Given the description of an element on the screen output the (x, y) to click on. 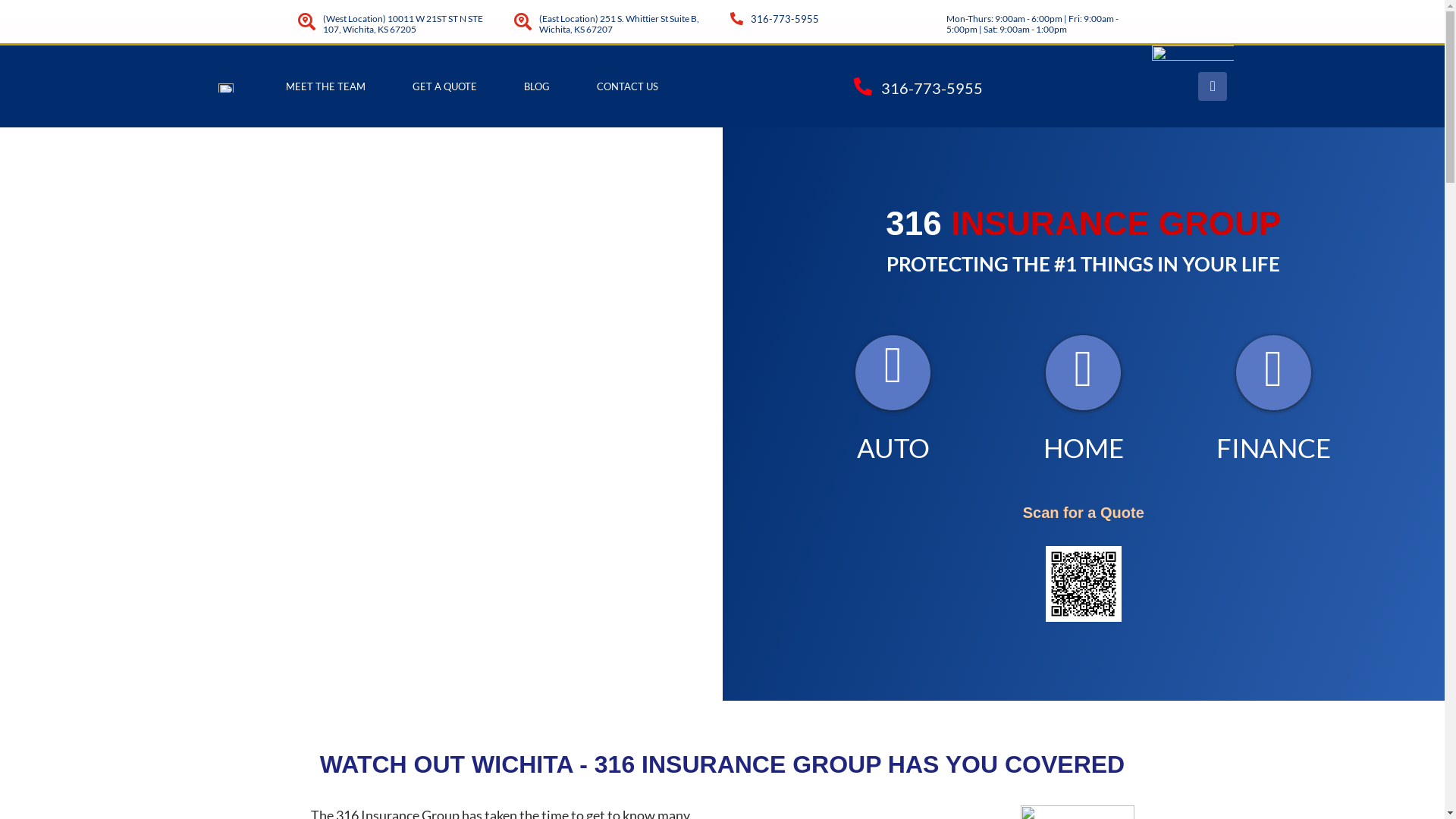
GET A QUOTE Element type: text (444, 86)
FINANCE Element type: text (1273, 447)
316-773-5955 Element type: text (931, 87)
CONTACT US Element type: text (627, 86)
BLOG Element type: text (536, 86)
316-773-5955 Element type: text (784, 18)
HOME Element type: text (1083, 447)
AUTO Element type: text (892, 447)
MEET THE TEAM Element type: text (325, 86)
